Given the description of an element on the screen output the (x, y) to click on. 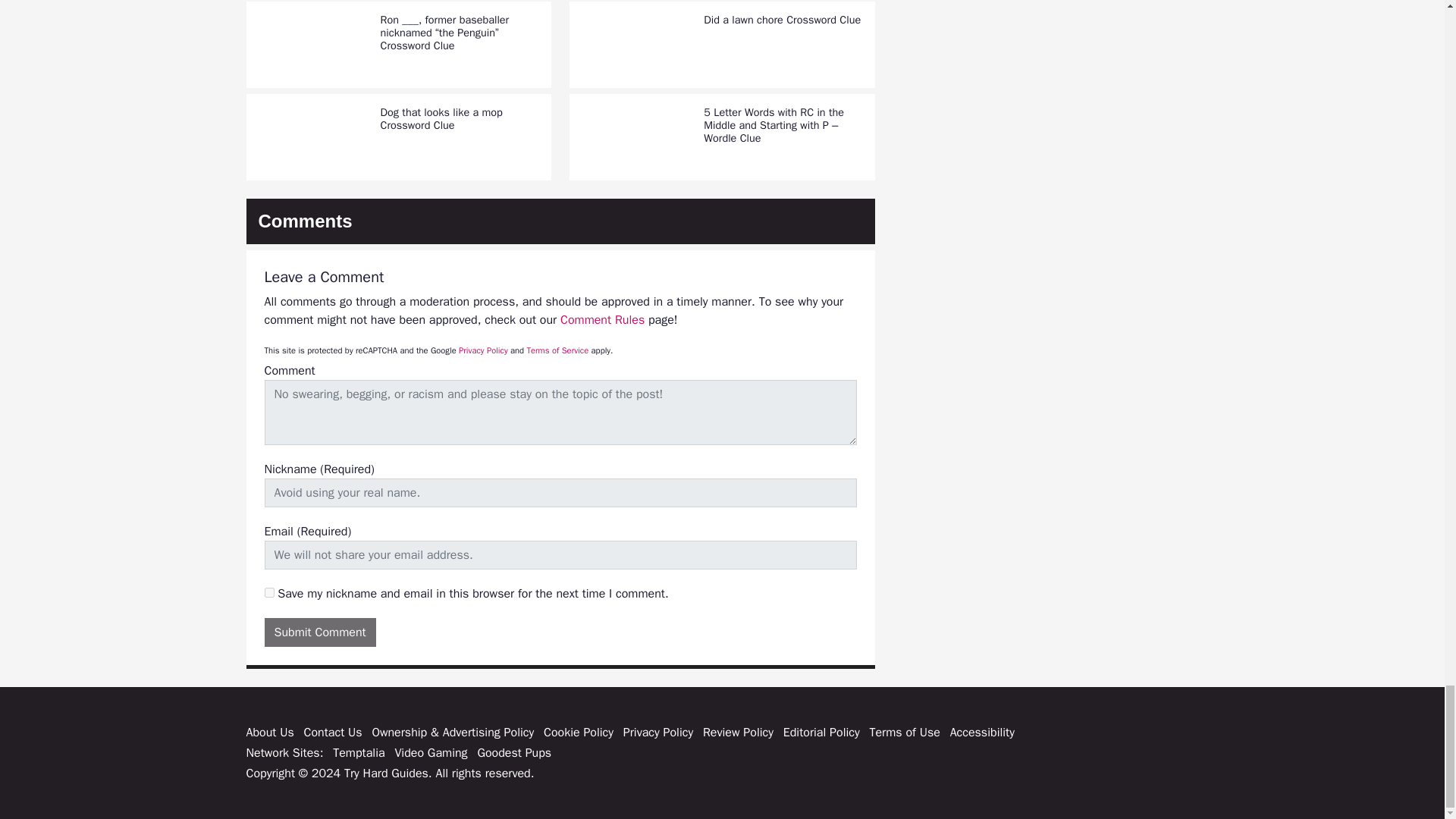
on (268, 592)
Submit Comment (319, 632)
